Given the description of an element on the screen output the (x, y) to click on. 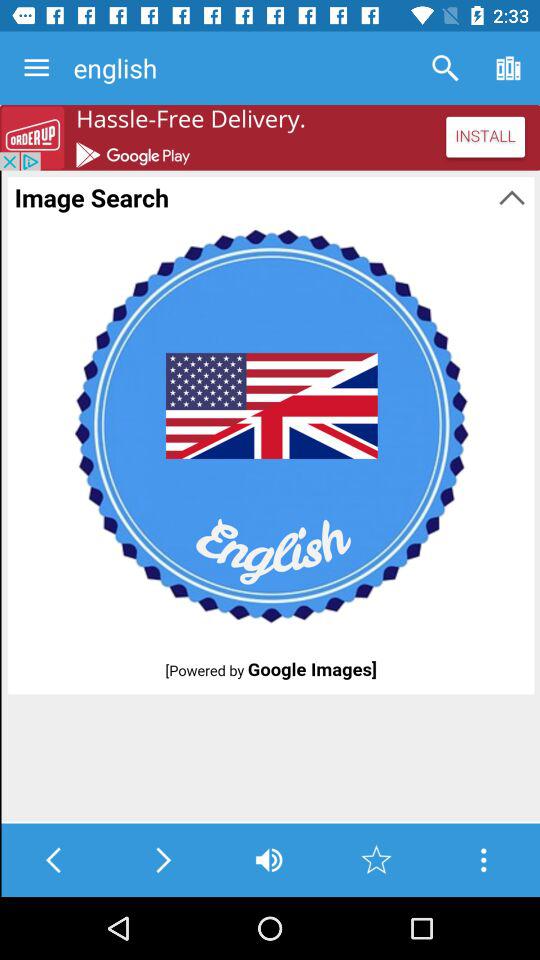
set page as favorite (376, 859)
